Given the description of an element on the screen output the (x, y) to click on. 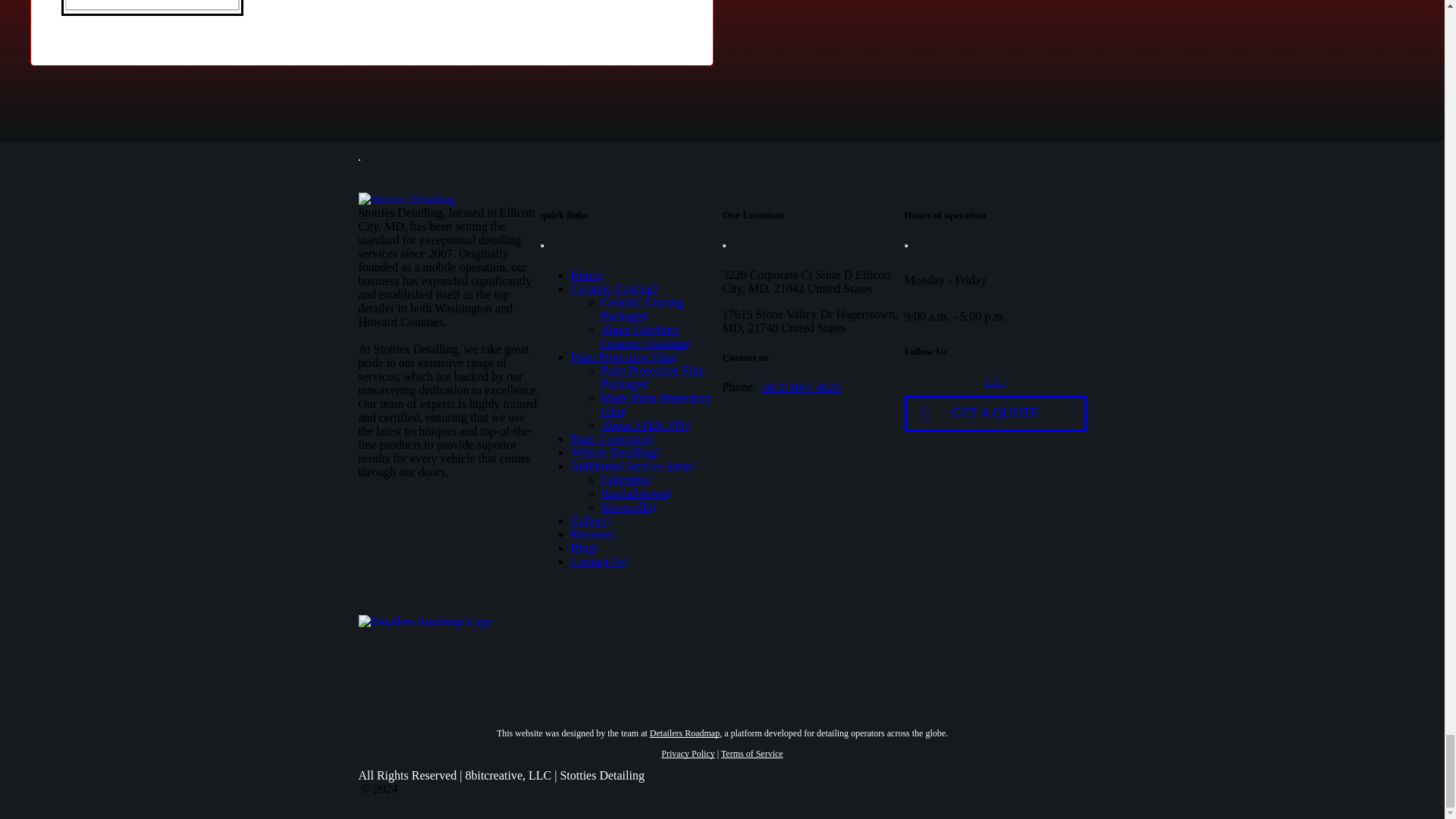
GET MY QUOTE (151, 5)
